Given the description of an element on the screen output the (x, y) to click on. 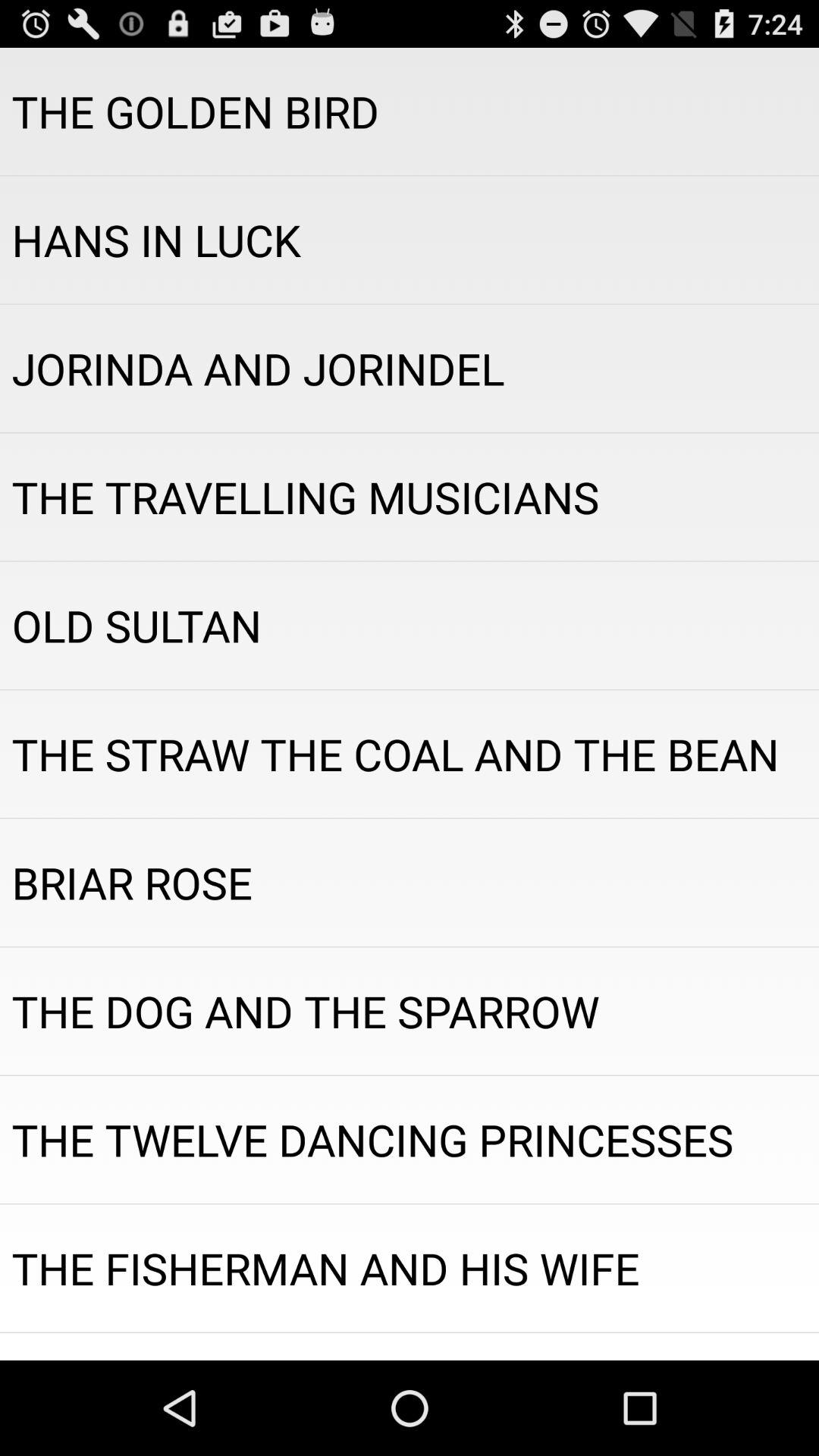
turn on item below the the straw the app (409, 882)
